Given the description of an element on the screen output the (x, y) to click on. 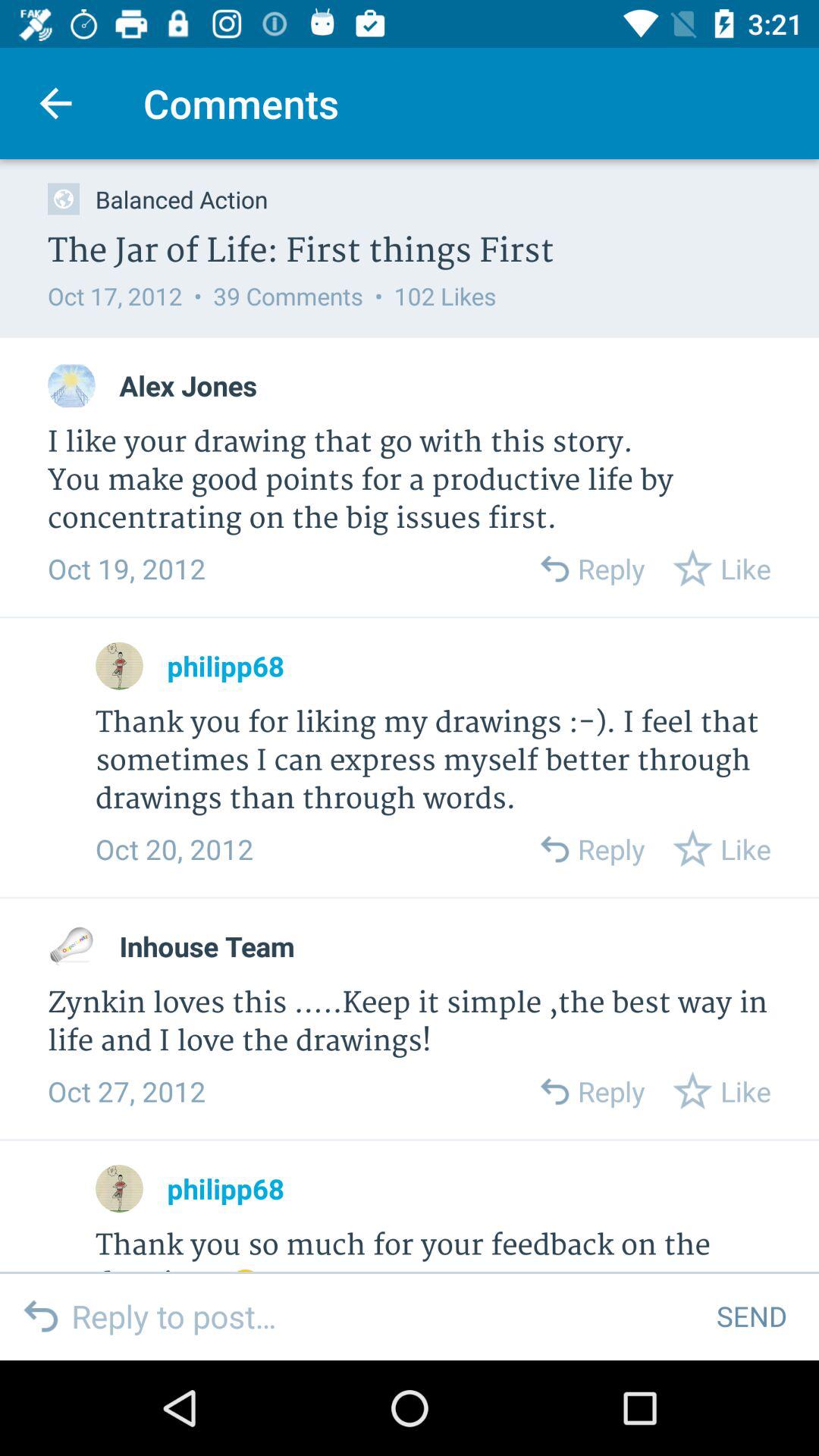
profile image (71, 946)
